Given the description of an element on the screen output the (x, y) to click on. 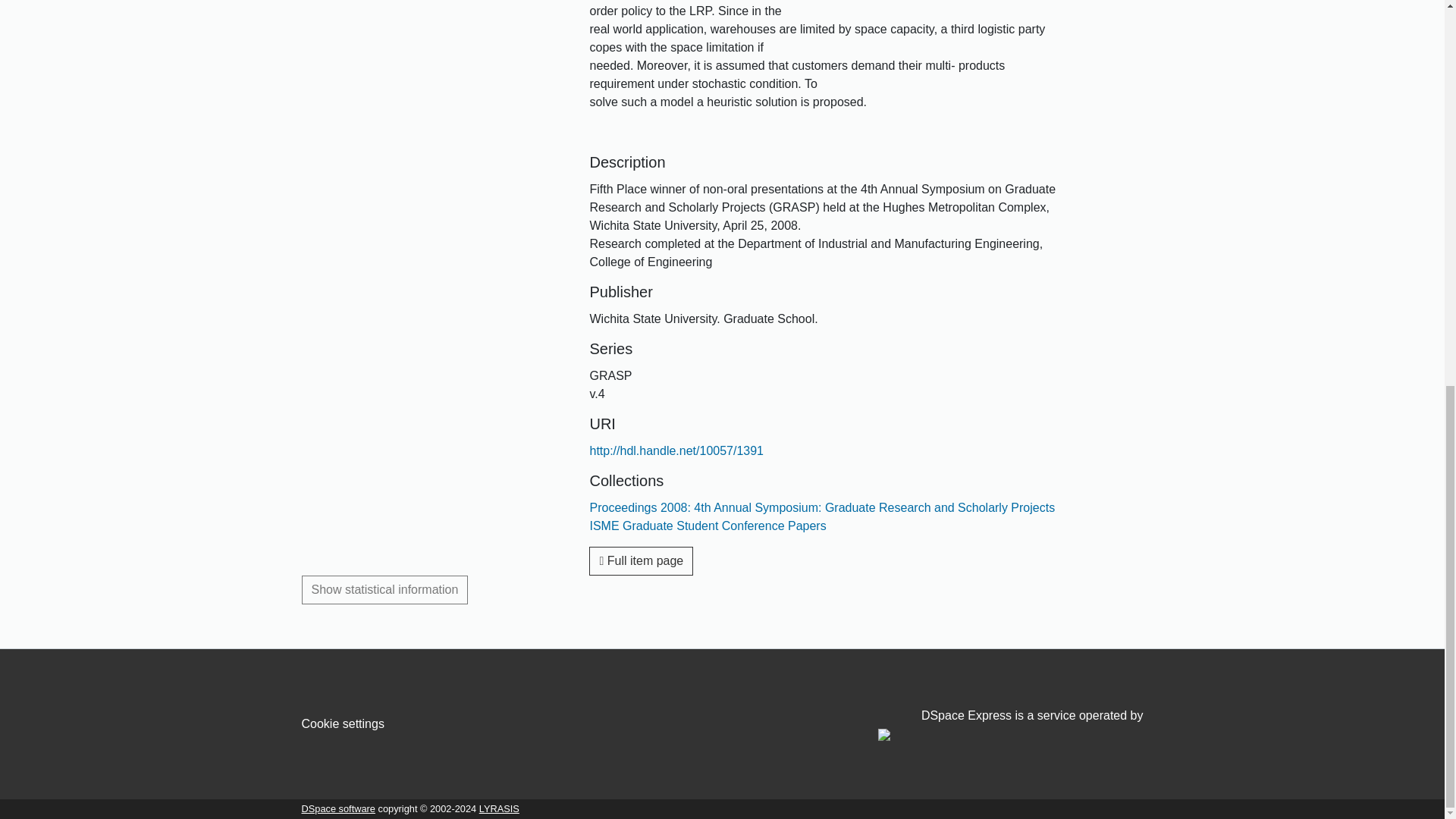
LYRASIS (499, 808)
Full item page (641, 561)
Cookie settings (342, 723)
ISME Graduate Student Conference Papers (707, 525)
DSpace software (338, 808)
DSpace Express is a service operated by (1009, 725)
Show statistical information (384, 589)
